Given the description of an element on the screen output the (x, y) to click on. 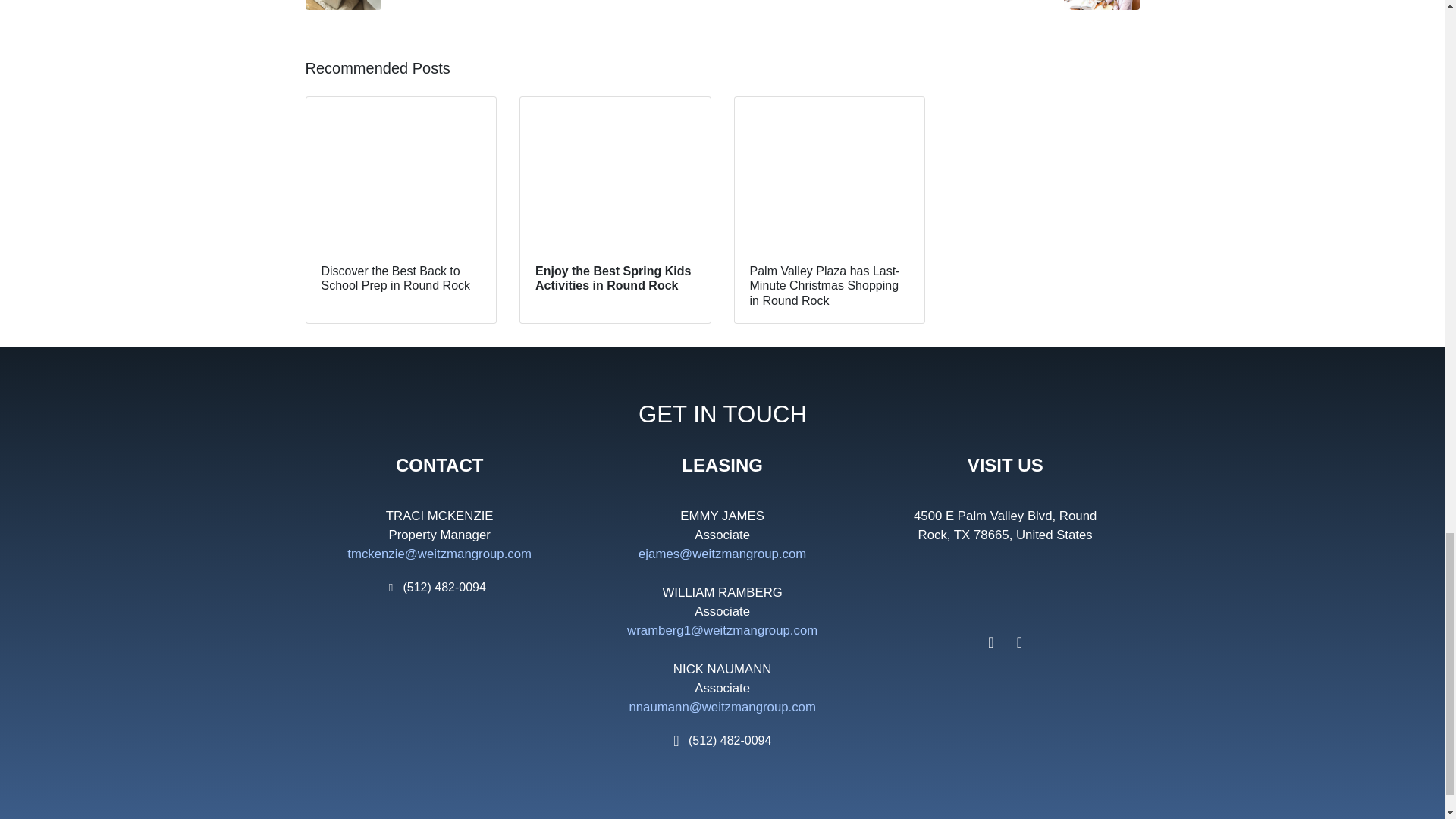
Discover Kids Stem Classes at Code Ninjas Round Rock 2 (1100, 4)
Discover the Best Back to School Prep in Round Rock 3 (400, 172)
Discover Kids Stem Classes at Code Ninjas Round Rock (936, 4)
